Given the description of an element on the screen output the (x, y) to click on. 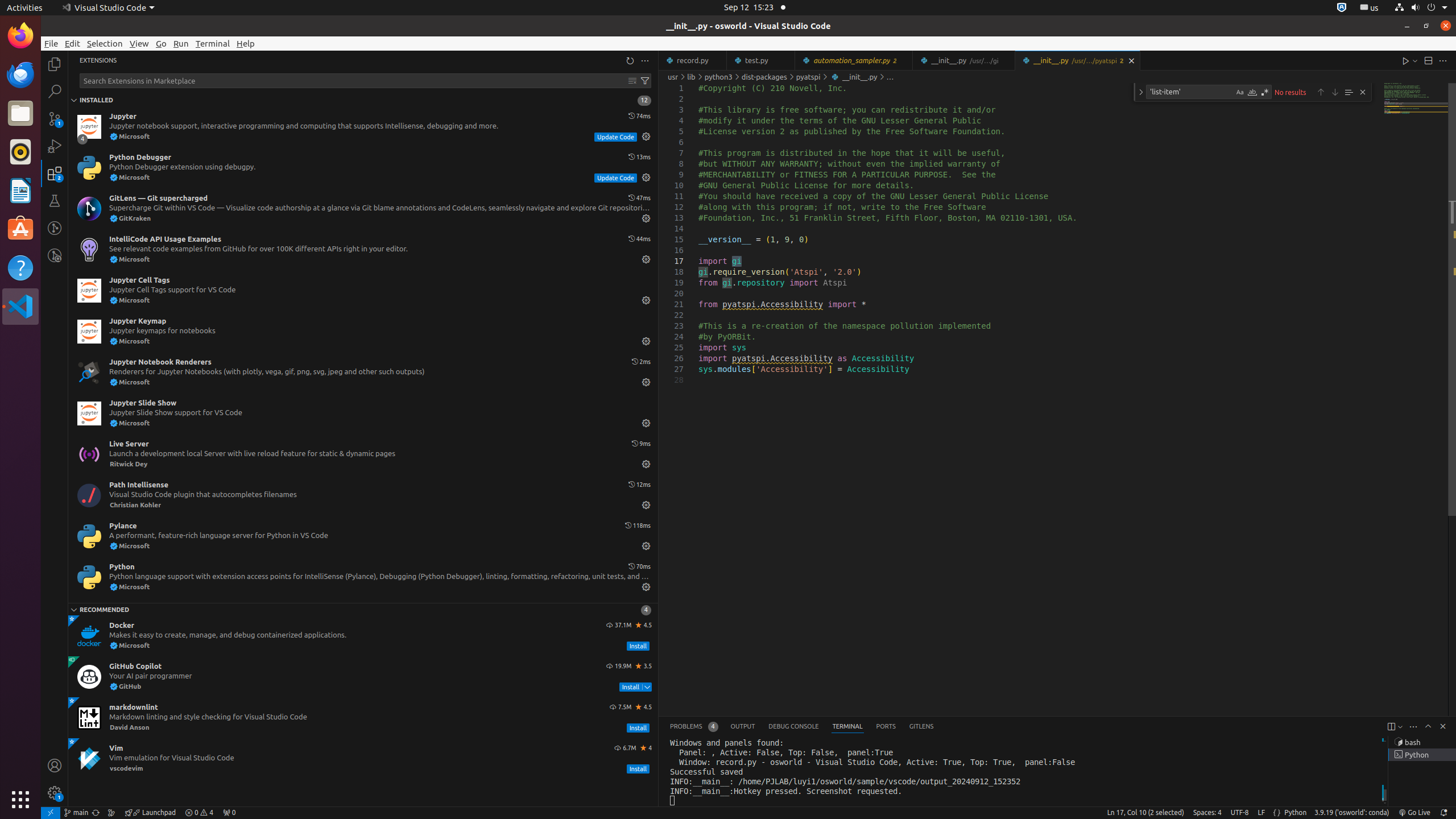
More Actions... Element type: push-button (1442, 60)
Run or Debug... Element type: push-button (1414, 60)
Path Intellisense, 2.9.0, Publisher Christian Kohler, Visual Studio Code plugin that autocompletes filenames , Rated 4.84 out of 5 stars by 121 users Element type: list-item (363, 494)
Previous Match (Shift+Enter) Element type: push-button (1320, 91)
Clear Extensions Search Results Element type: push-button (632, 80)
